Given the description of an element on the screen output the (x, y) to click on. 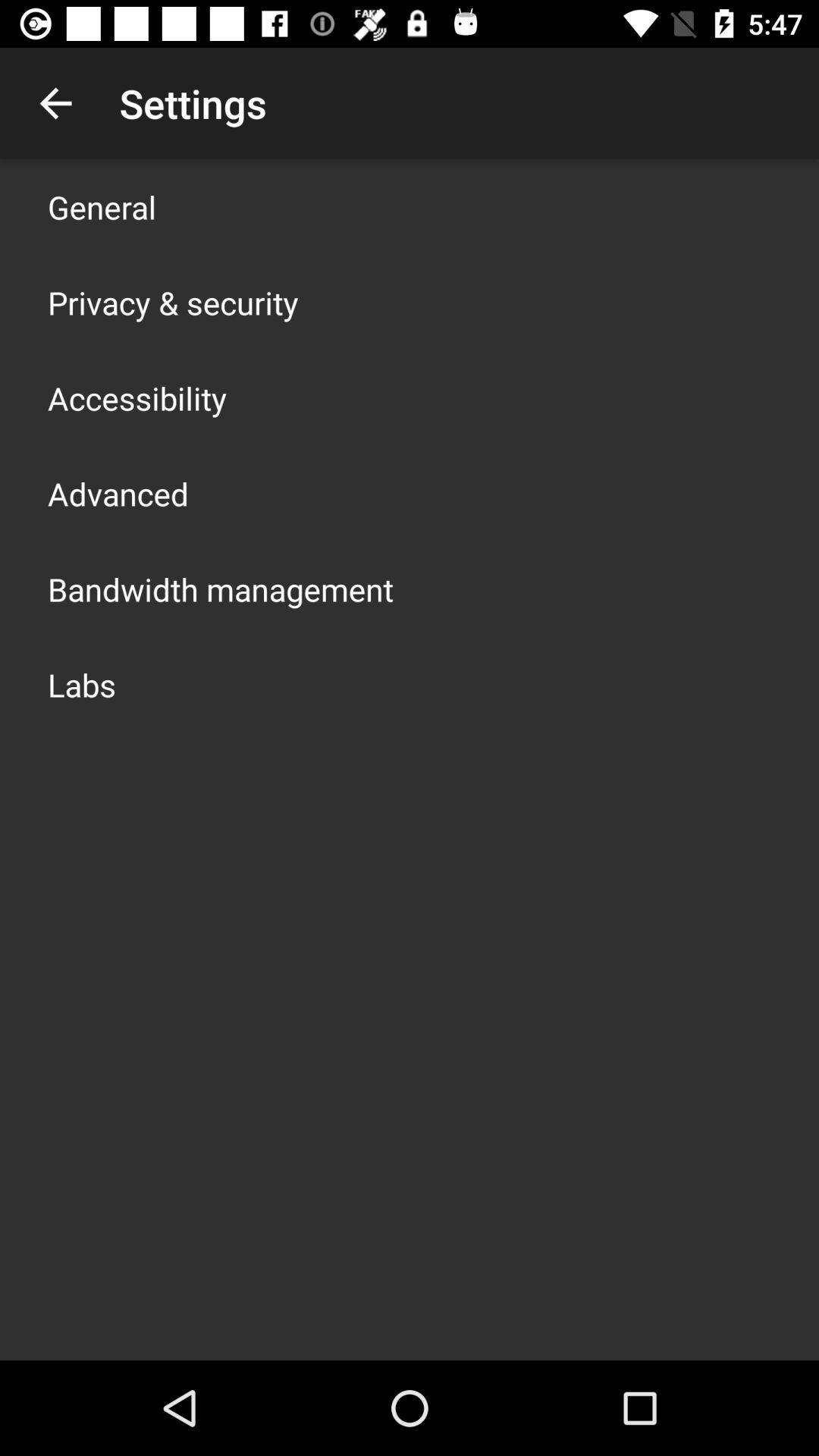
choose the icon below bandwidth management item (81, 684)
